Given the description of an element on the screen output the (x, y) to click on. 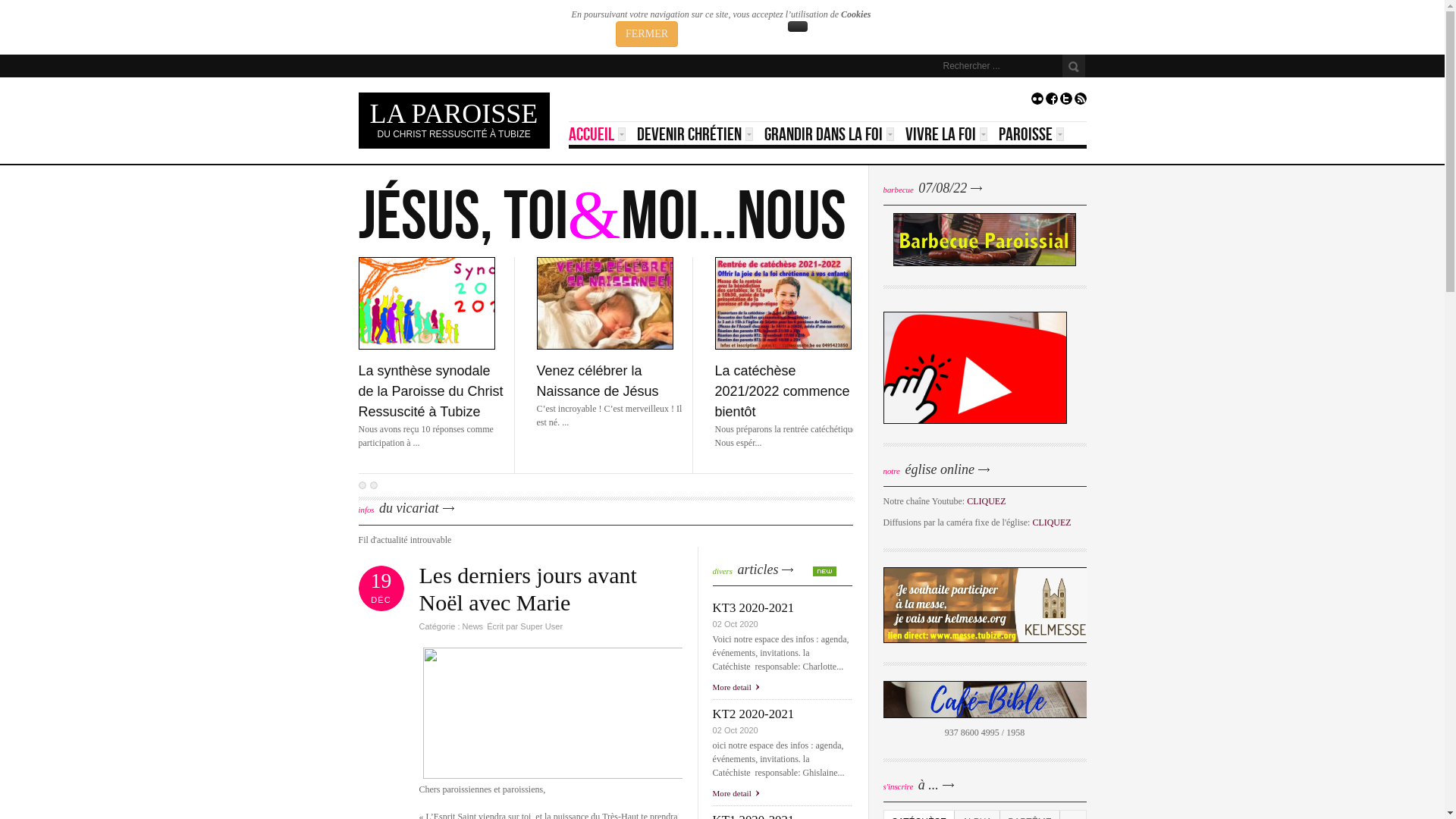
feed Element type: hover (1079, 101)
LA PAROISSE Element type: text (454, 113)
KT3 2020-2021 Element type: text (781, 607)
VIVRE LA FOI Element type: text (946, 133)
FERMER Element type: text (646, 34)
KT2 2020-2021 Element type: text (781, 714)
ACCUEIL Element type: text (596, 133)
liens streaming Element type: hover (974, 420)
Valider Element type: text (1072, 65)
More detail Element type: text (735, 686)
More detail Element type: text (735, 792)
Previous Element type: hover (373, 485)
CLIQUEZ Element type: text (1051, 522)
facebook Element type: hover (1050, 101)
CLIQUEZ Element type: text (985, 500)
twitter Element type: hover (1066, 101)
flickr Element type: hover (1037, 101)
PAROISSE Element type: text (1030, 133)
Next Element type: hover (361, 485)
GRANDIR DANS LA FOI Element type: text (829, 133)
